Given the description of an element on the screen output the (x, y) to click on. 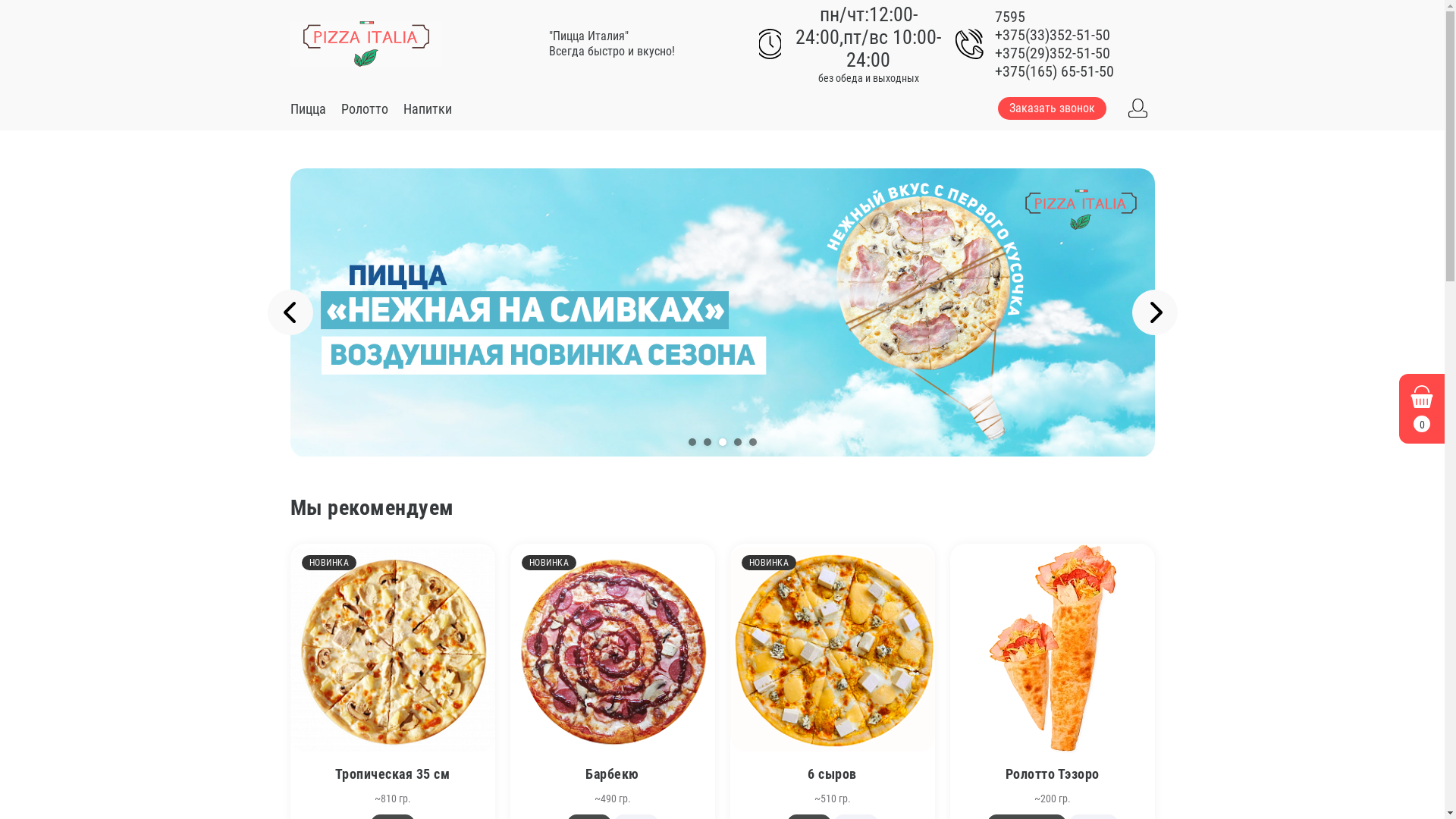
+375(165) 65-51-50 Element type: text (1074, 71)
+375(33)352-51-50 +375(29)352-51-50 Element type: text (1074, 43)
7595 Element type: text (1074, 16)
0 Element type: text (1421, 408)
